Given the description of an element on the screen output the (x, y) to click on. 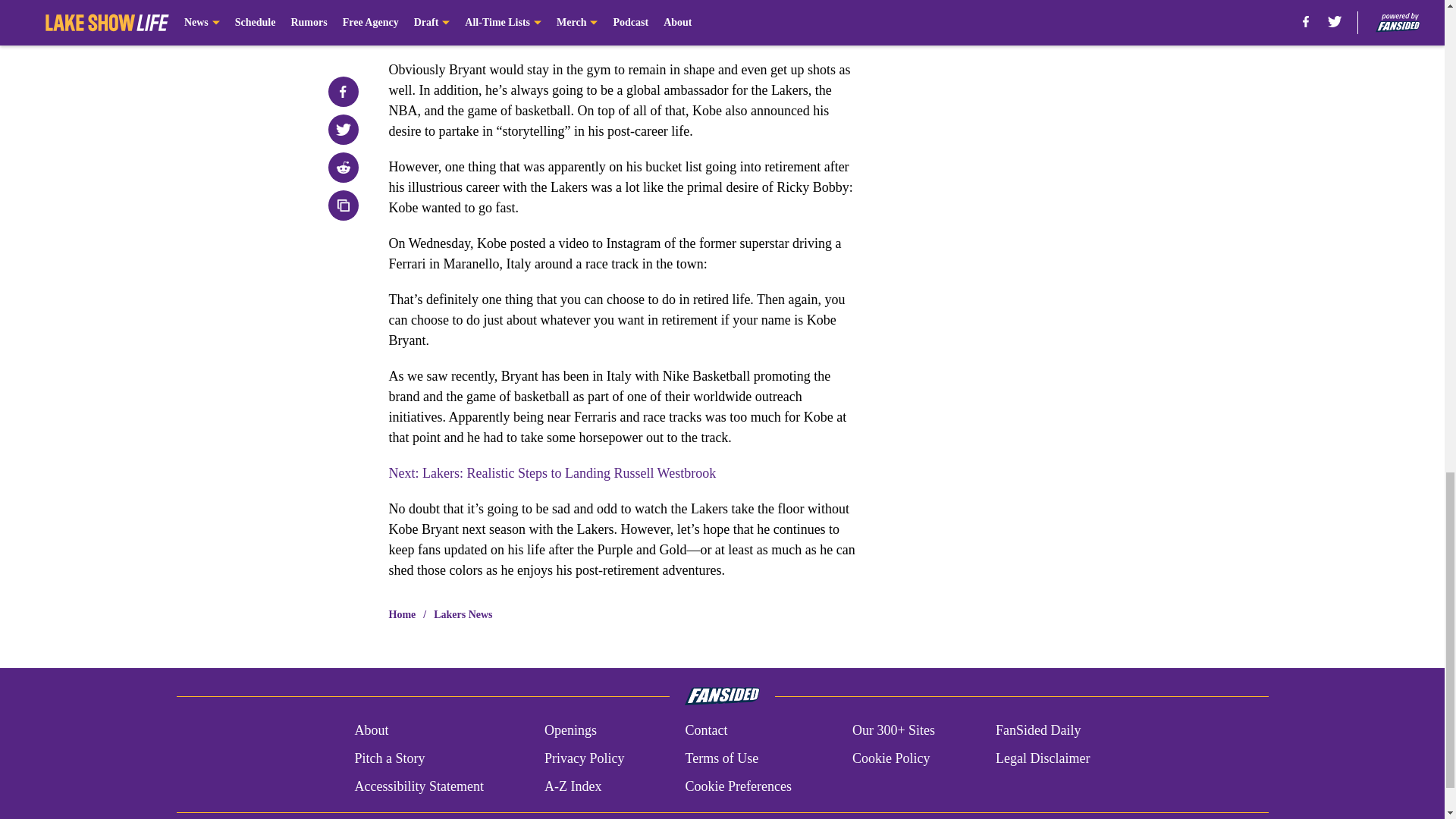
About (370, 730)
Openings (570, 730)
Contact (705, 730)
Home (401, 614)
Lakers News (462, 614)
Next: Lakers: Realistic Steps to Landing Russell Westbrook (552, 473)
